Given the description of an element on the screen output the (x, y) to click on. 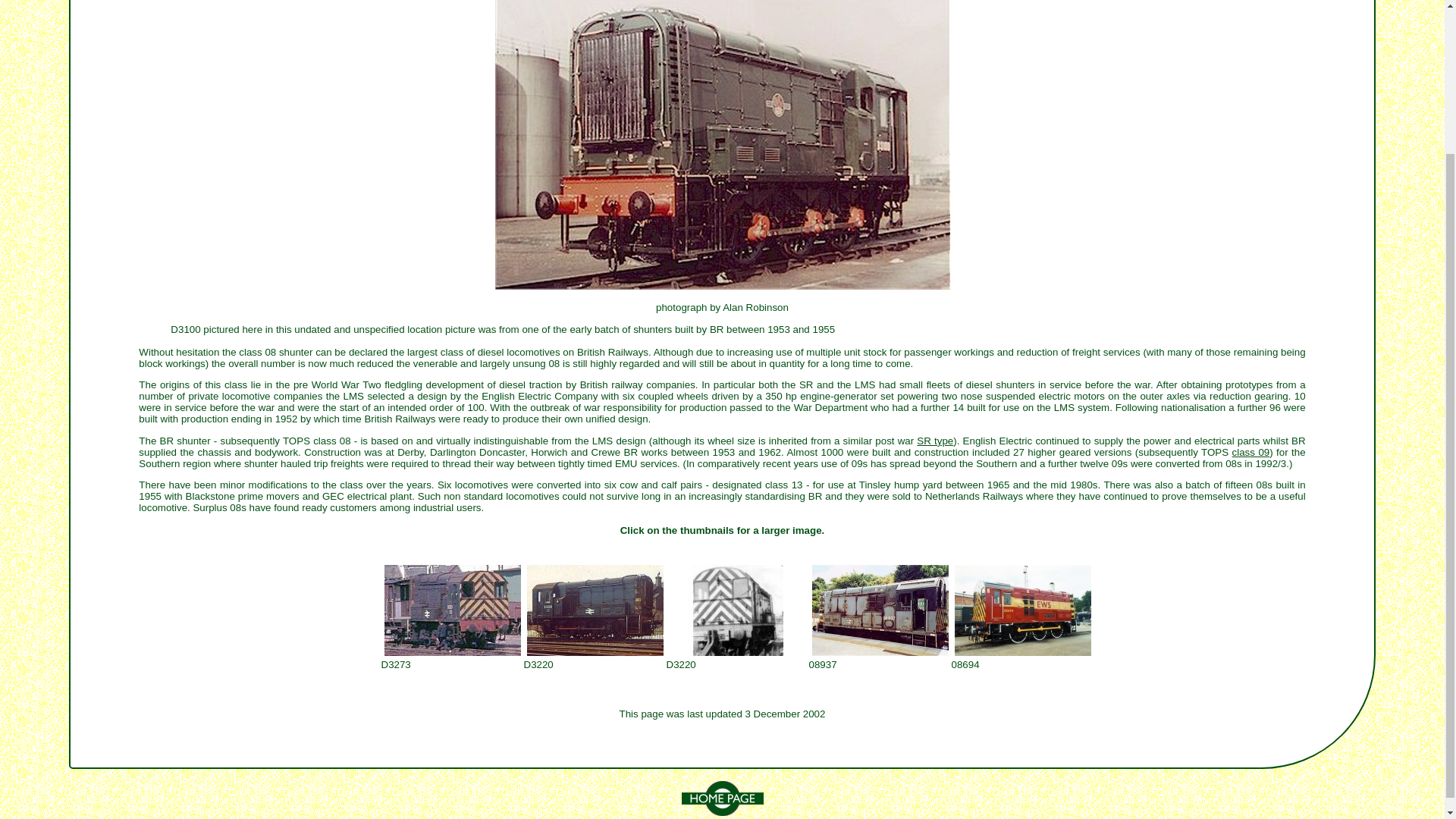
Click to enlarge (1022, 610)
Click to enlarge (879, 610)
SR type (935, 440)
class 09 (1250, 451)
Click to enlarge (451, 610)
Click to enlarge (736, 610)
Click to enlarge (593, 610)
